Given the description of an element on the screen output the (x, y) to click on. 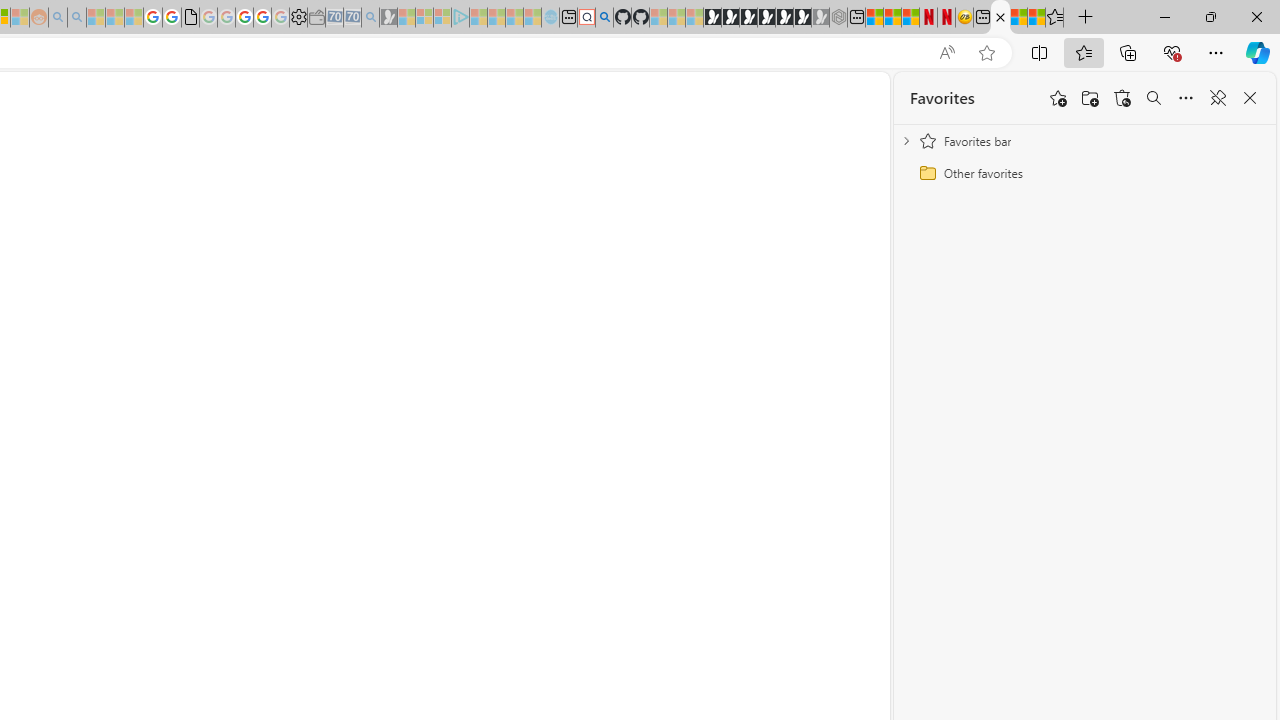
Close favorites (1250, 98)
Play Cave FRVR in your browser | Games from Microsoft Start (747, 17)
